Given the description of an element on the screen output the (x, y) to click on. 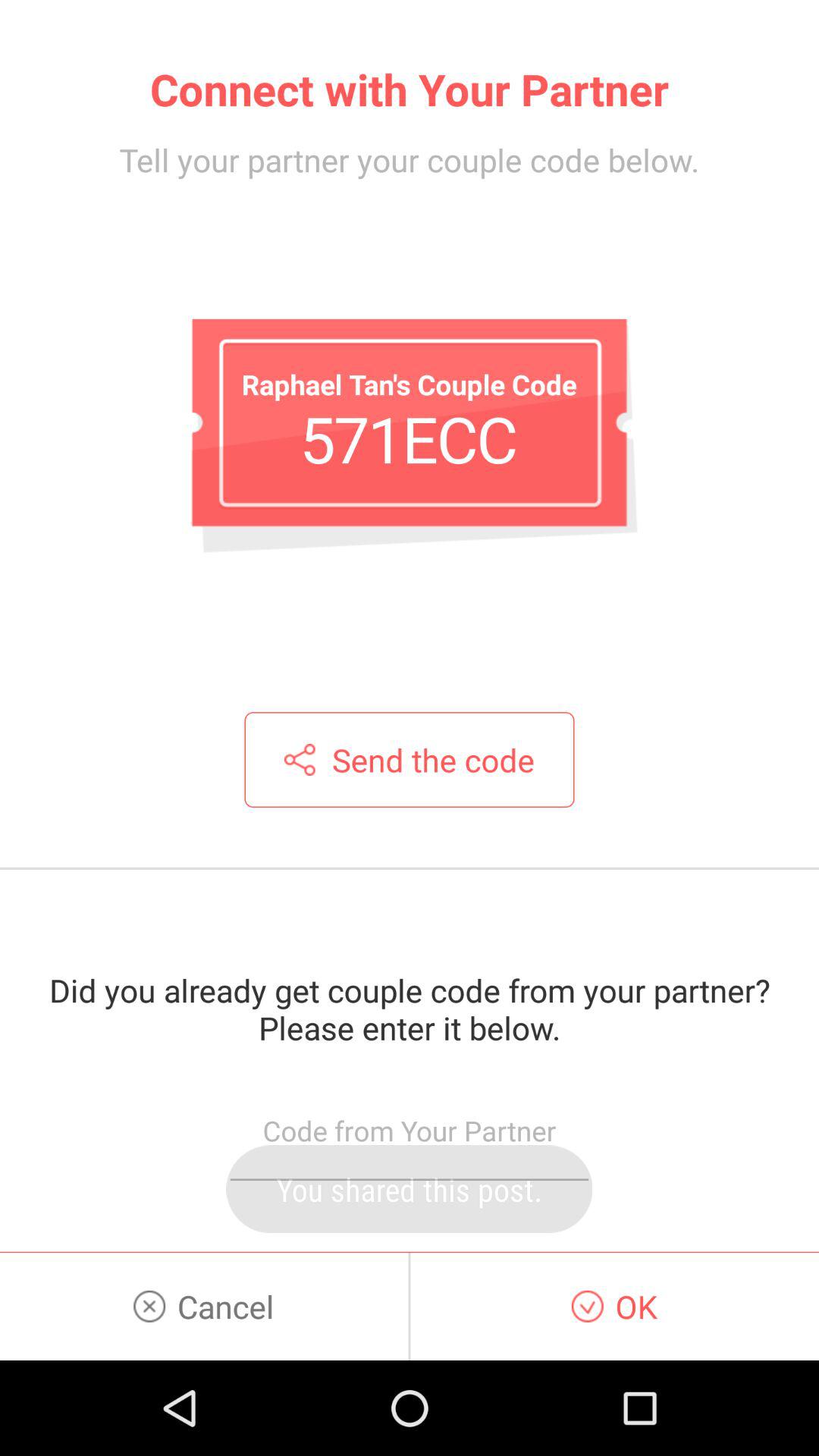
turn off the send the code item (409, 759)
